Given the description of an element on the screen output the (x, y) to click on. 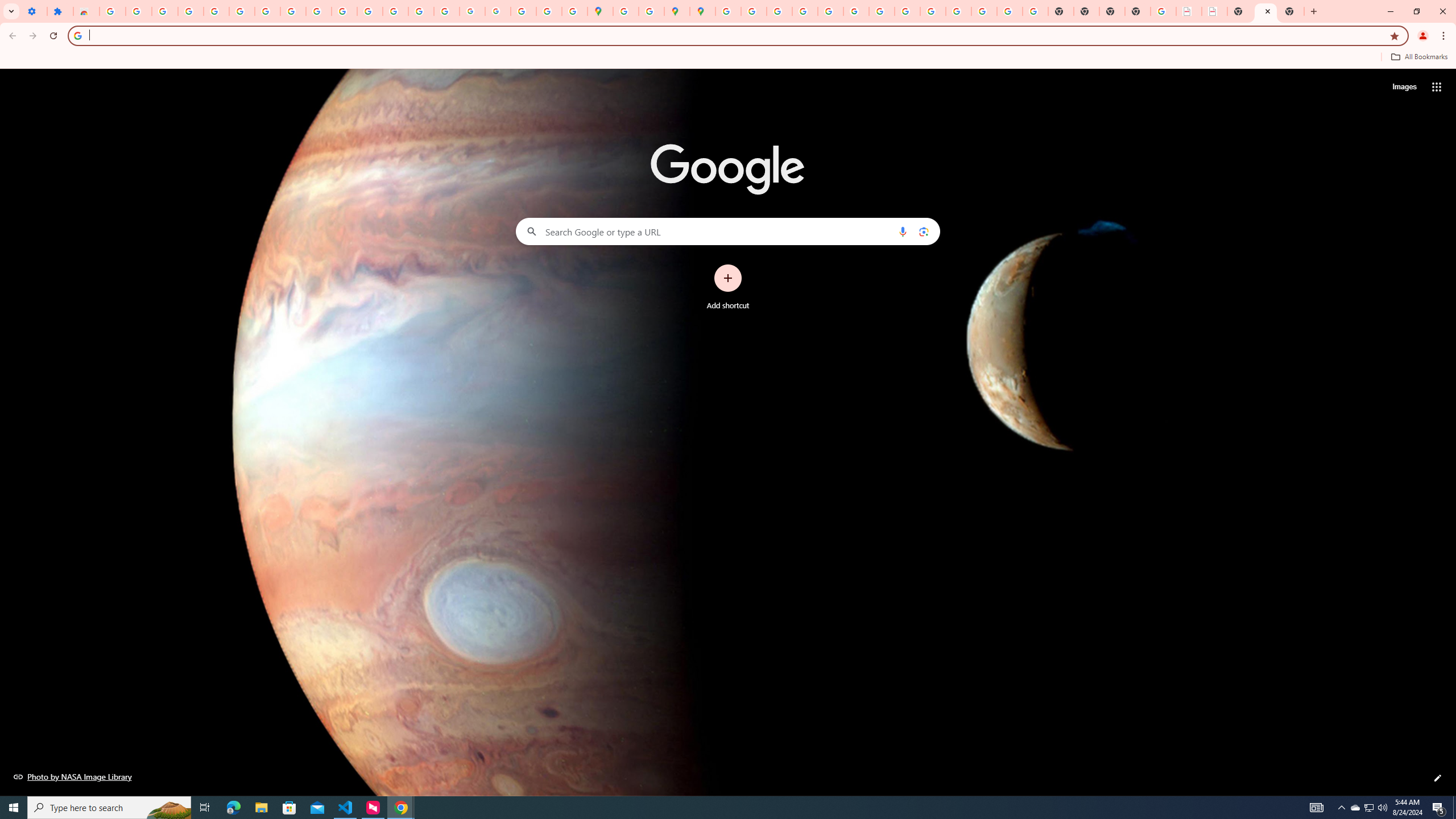
YouTube (318, 11)
Bookmarks (728, 58)
Google Images (1034, 11)
Reviews: Helix Fruit Jump Arcade Game (86, 11)
Google Account (293, 11)
BAE Systems Brasil | BAE Systems (1213, 11)
Google Maps (600, 11)
